Given the description of an element on the screen output the (x, y) to click on. 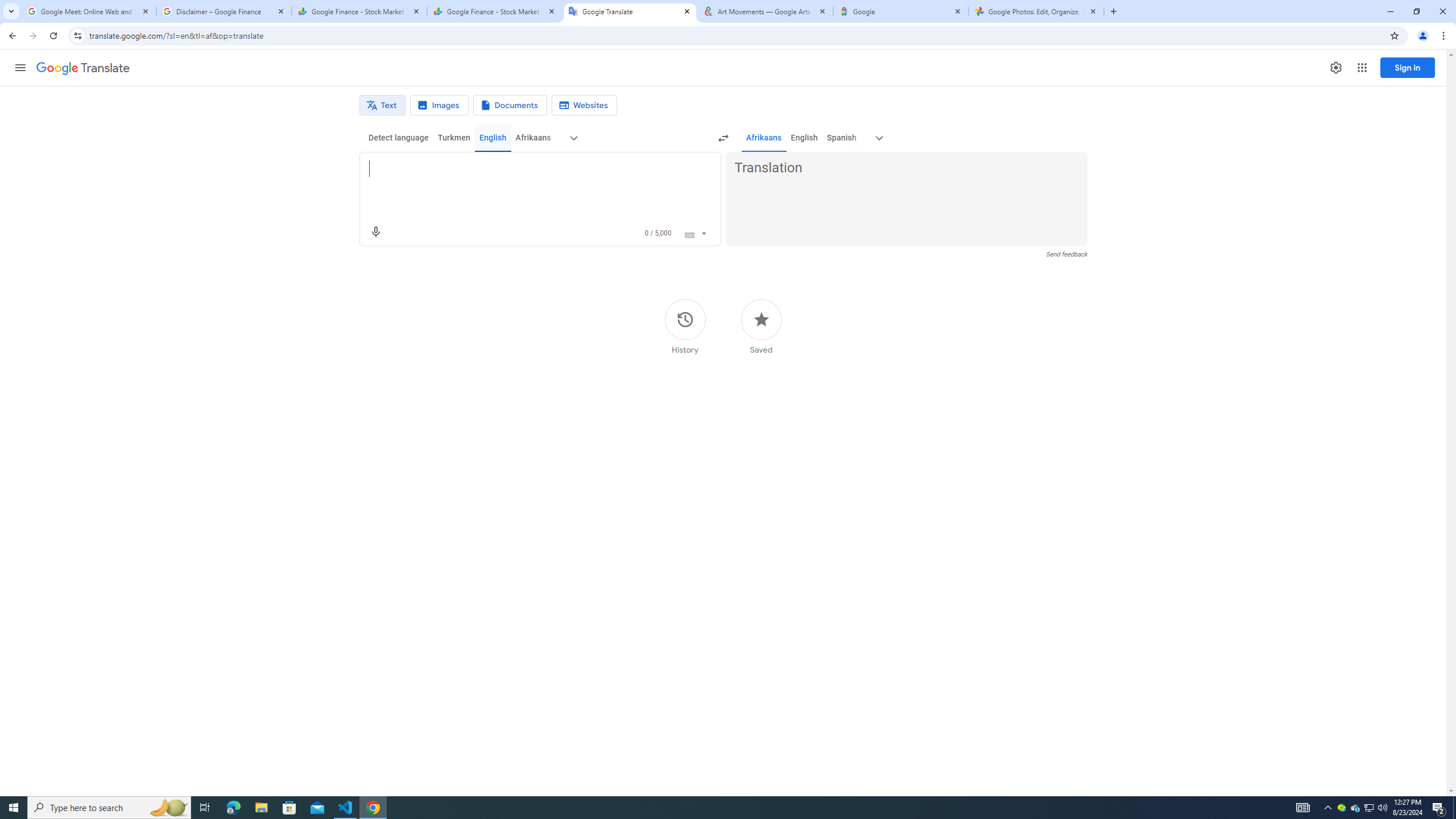
Source text (529, 167)
More source languages (573, 137)
Send feedback (1066, 253)
Afrikaans (763, 137)
Google (901, 11)
Text translation (382, 105)
Show the Input Tools menu (703, 231)
